Given the description of an element on the screen output the (x, y) to click on. 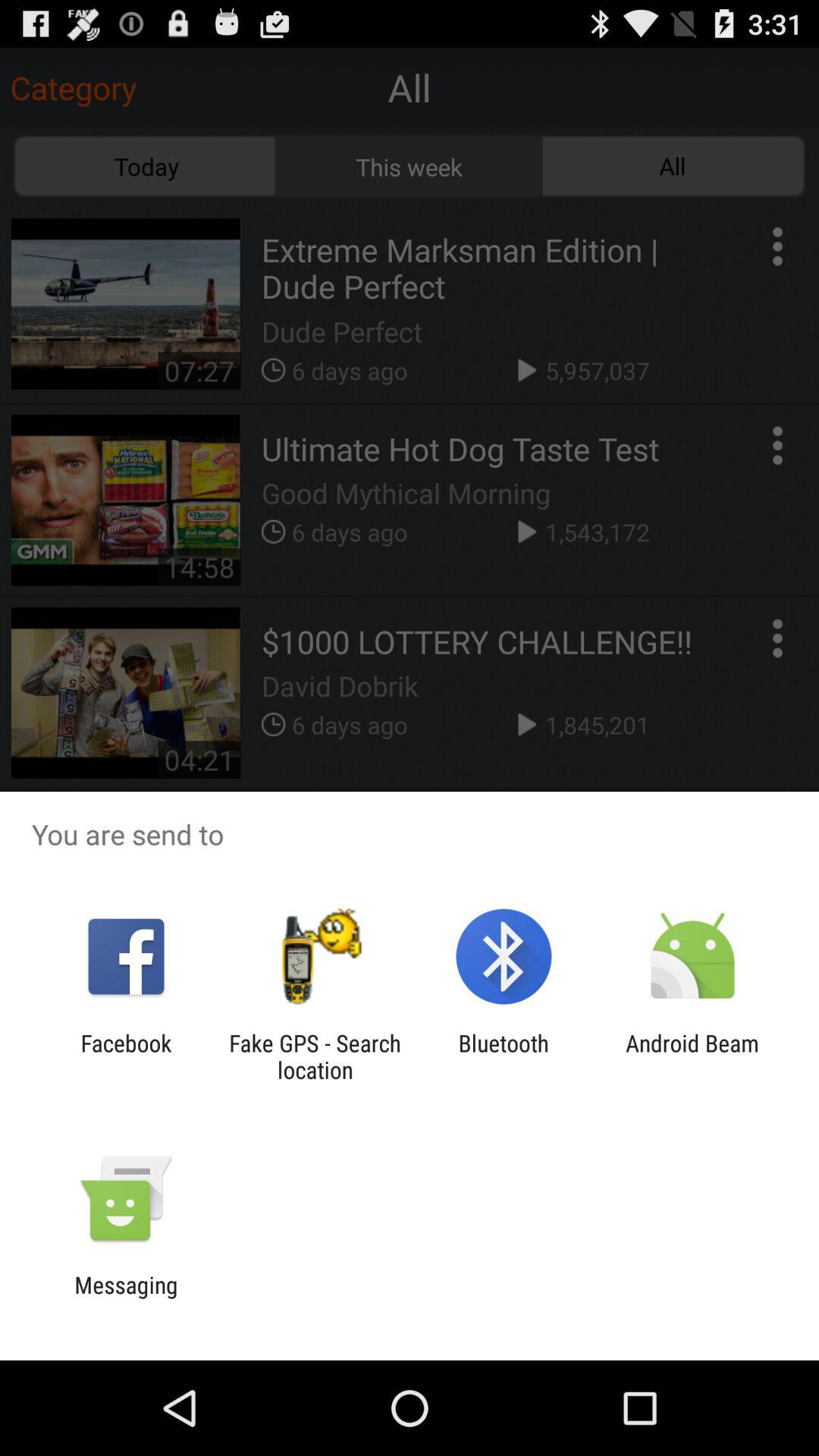
choose item to the left of the fake gps search app (125, 1056)
